Given the description of an element on the screen output the (x, y) to click on. 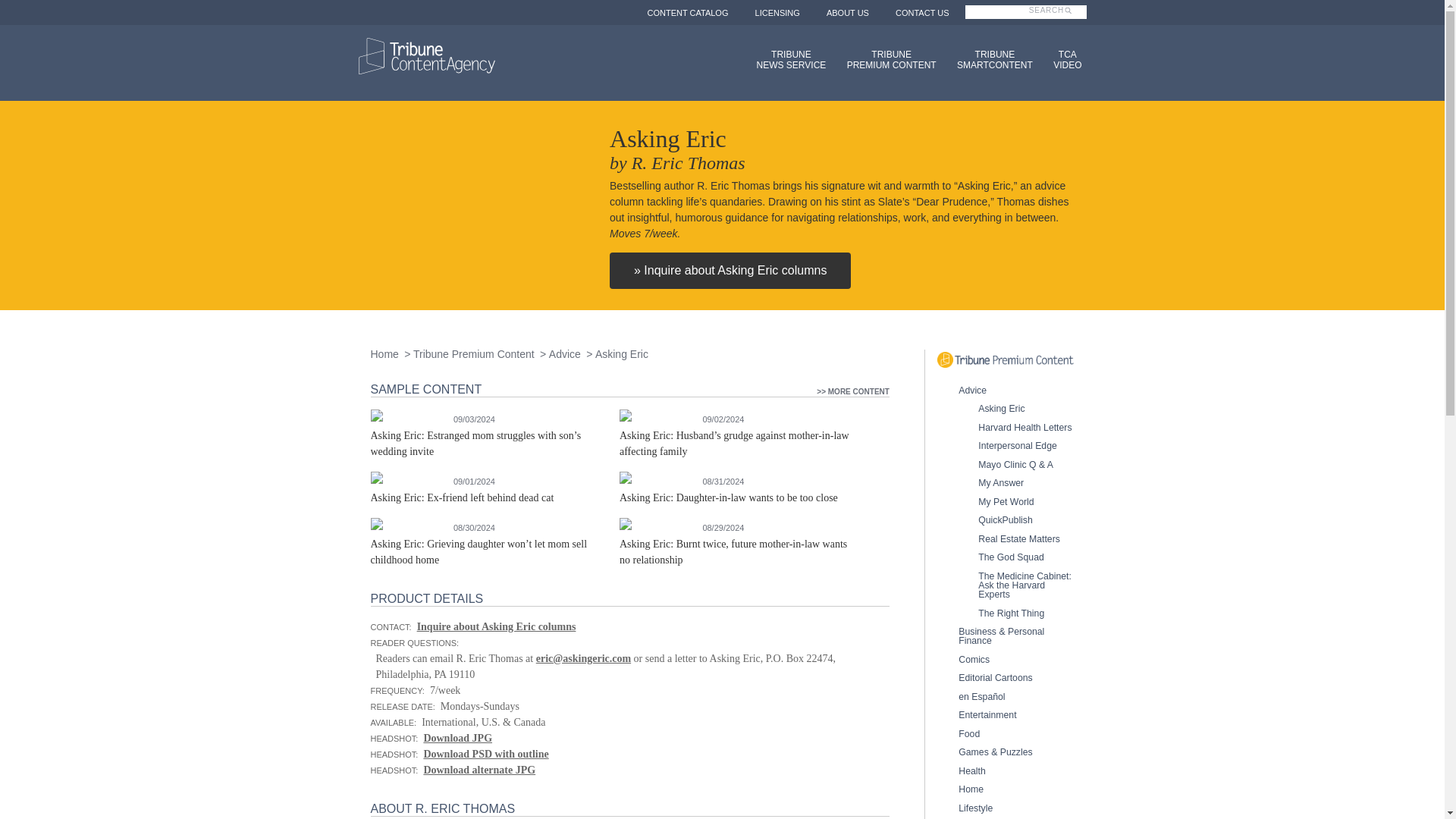
ABOUT US (847, 12)
CONTENT CATALOG (886, 59)
LICENSING (687, 12)
Search (777, 12)
CONTACT US (989, 59)
Search (786, 59)
